Given the description of an element on the screen output the (x, y) to click on. 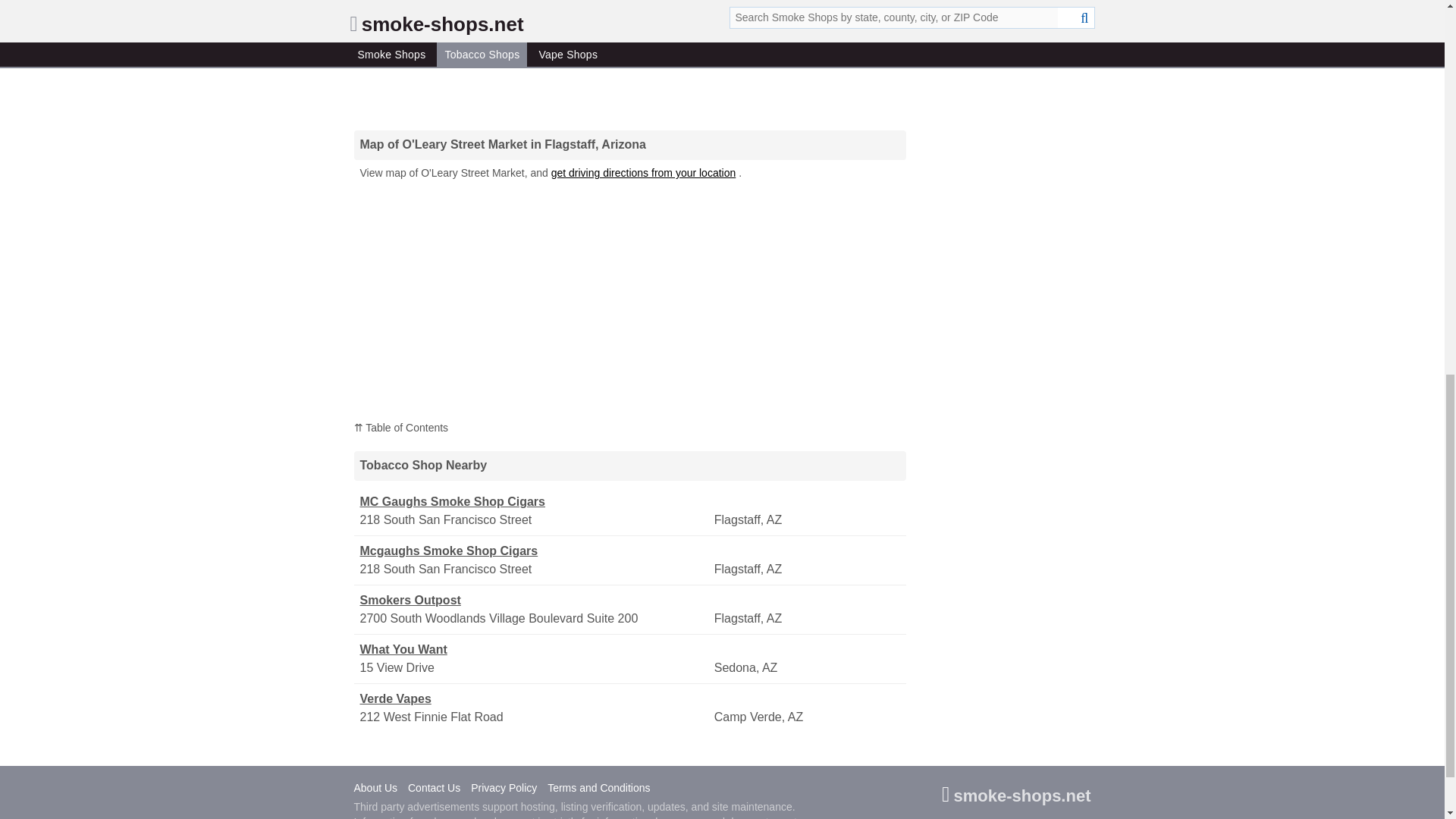
Advertisement (629, 57)
Verde Vapes (534, 699)
Smokers Outpost (534, 600)
MC Gaughs Smoke Shop Cigars (534, 502)
What You Want in Sedona, Arizona (534, 649)
Mcgaughs Smoke Shop Cigars (534, 551)
Contact Us (437, 788)
Terms and Conditions (602, 788)
Smokers Outpost in Flagstaff, Arizona (534, 600)
Privacy Policy (507, 788)
About Us (378, 788)
Verde Vapes in Camp Verde, Arizona (534, 699)
smoke-shops.net (1016, 797)
get driving directions from your location (643, 173)
What You Want (534, 649)
